Given the description of an element on the screen output the (x, y) to click on. 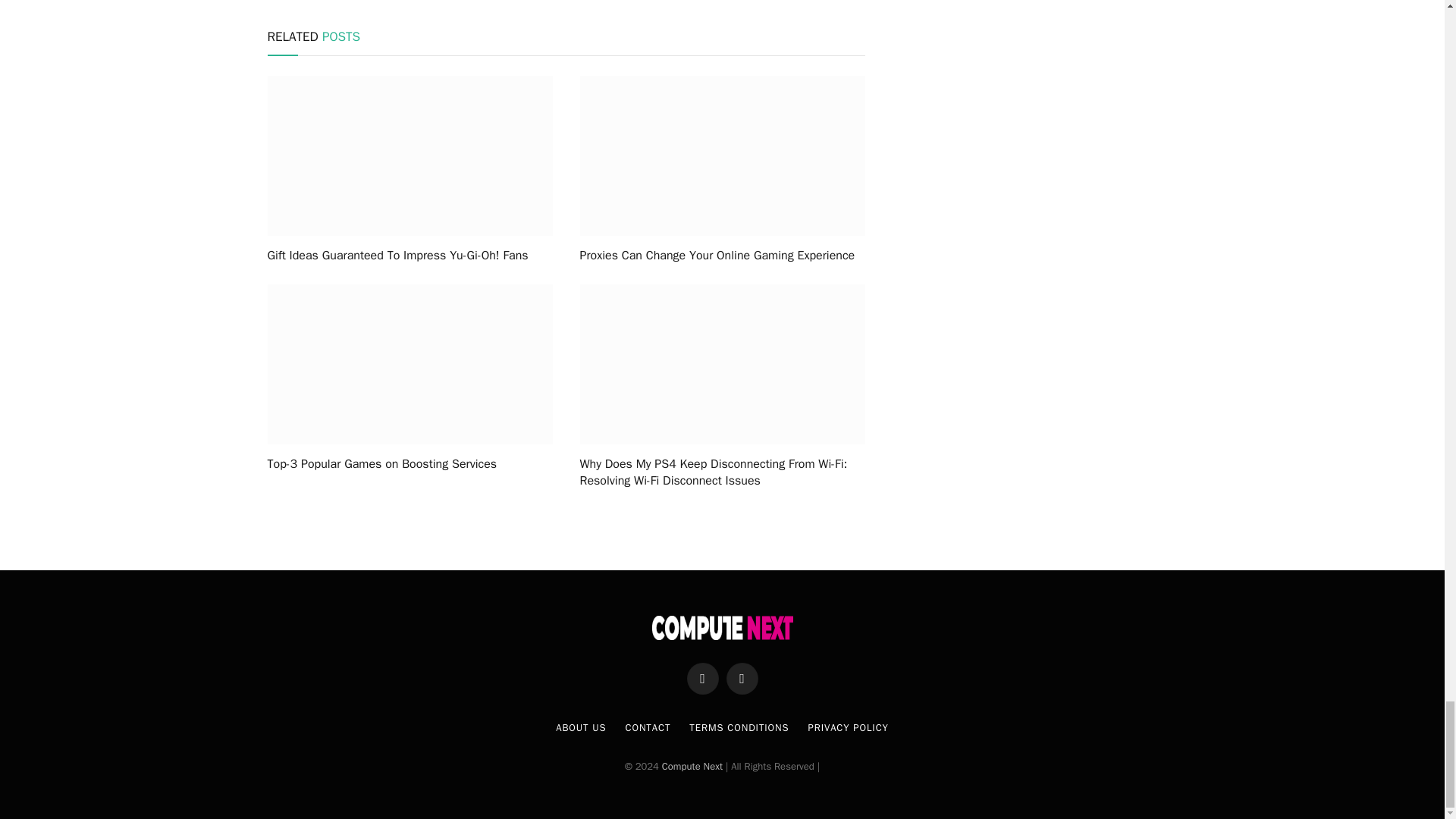
Gift Ideas Guaranteed To Impress Yu-Gi-Oh! Fans (408, 256)
